Given the description of an element on the screen output the (x, y) to click on. 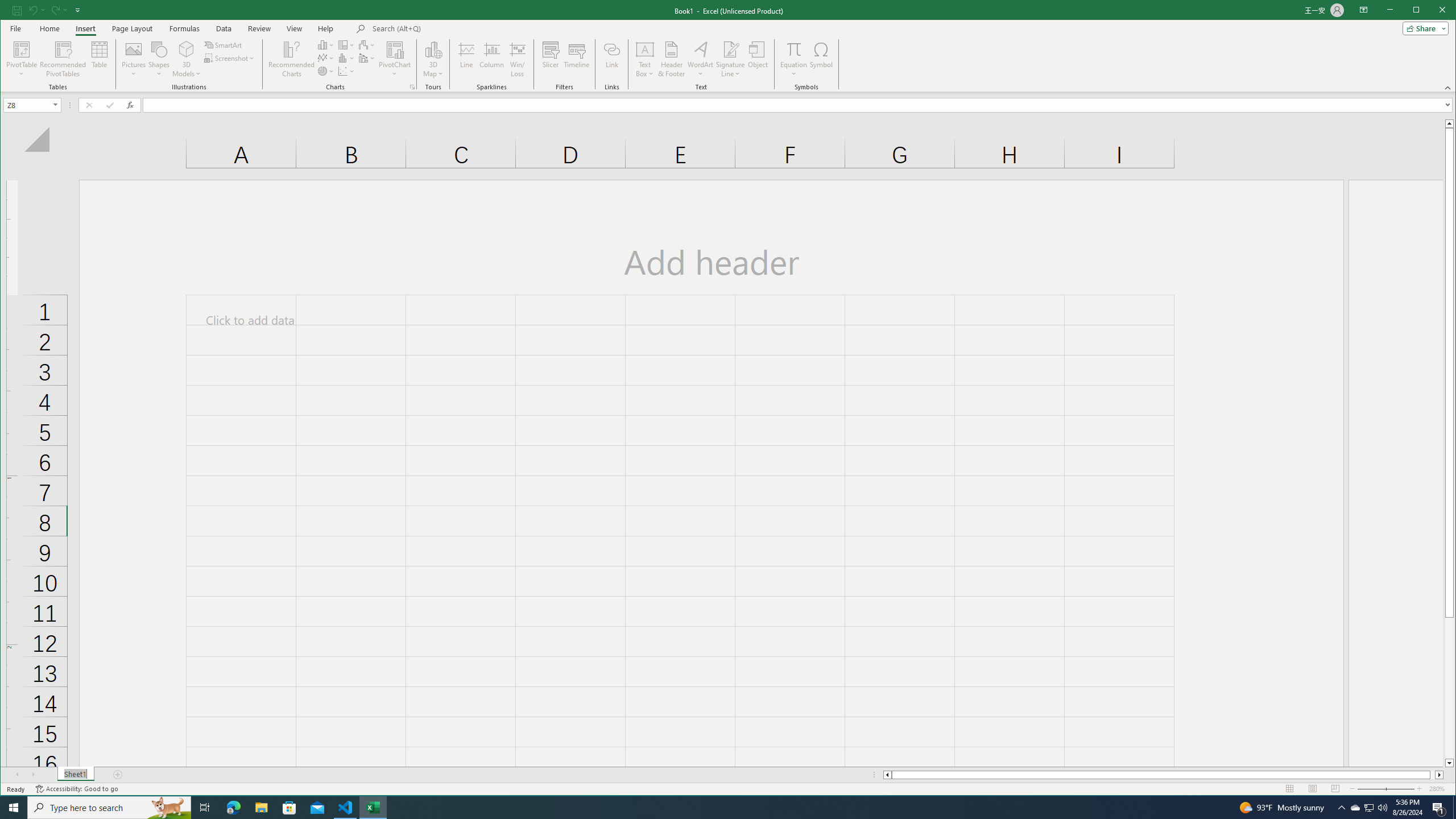
Text Box (644, 59)
Line (466, 59)
Class: MsoCommandBar (728, 45)
File Explorer (261, 807)
Object... (757, 59)
Running applications (717, 807)
Sheet Tab (75, 774)
Win/Loss (517, 59)
PivotChart (394, 48)
Slicer... (550, 59)
